Given the description of an element on the screen output the (x, y) to click on. 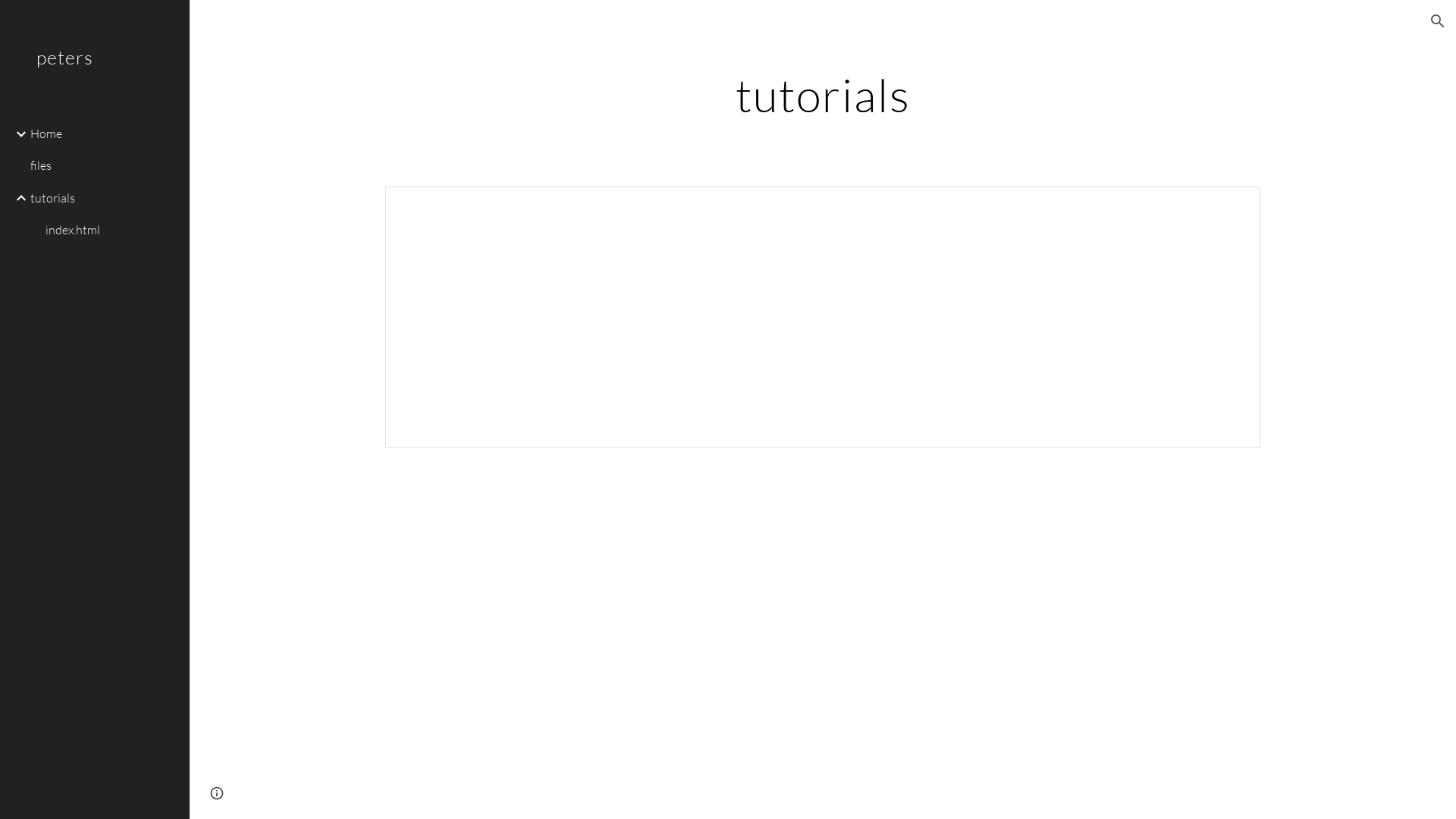
tutorials Element type: text (103, 197)
Expand/Collapse Element type: hover (16, 134)
Expand/Collapse Element type: hover (16, 197)
Home Element type: text (103, 133)
index.html Element type: text (111, 229)
peters Element type: text (94, 76)
files Element type: text (103, 166)
